Given the description of an element on the screen output the (x, y) to click on. 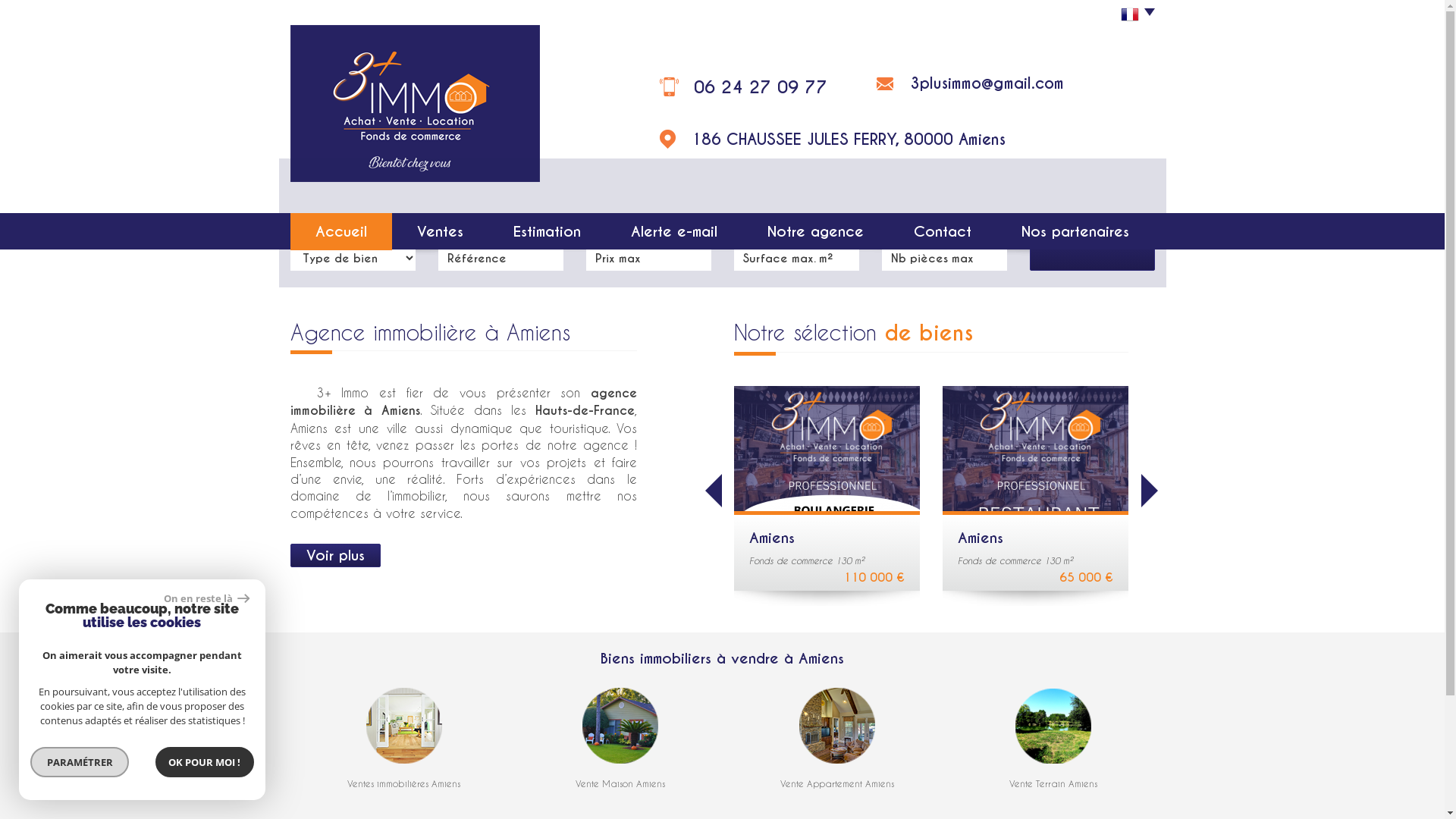
Nos partenaires Element type: text (1075, 231)
Notre agence Element type: text (815, 231)
Voir plus Element type: text (334, 555)
3plusimmo@gmail.com Element type: text (986, 83)
Ventes Element type: text (440, 231)
Vente Maison Amiens Element type: text (619, 782)
Contact Element type: text (942, 231)
Recherche Element type: text (1091, 241)
Alerte e-mail Element type: text (673, 231)
OK POUR MOI ! Element type: text (204, 761)
Vente Appartement Amiens Element type: text (836, 782)
Accueil Element type: text (340, 231)
Estimation Element type: text (546, 231)
Vente Terrain Amiens Element type: text (1052, 782)
